Given the description of an element on the screen output the (x, y) to click on. 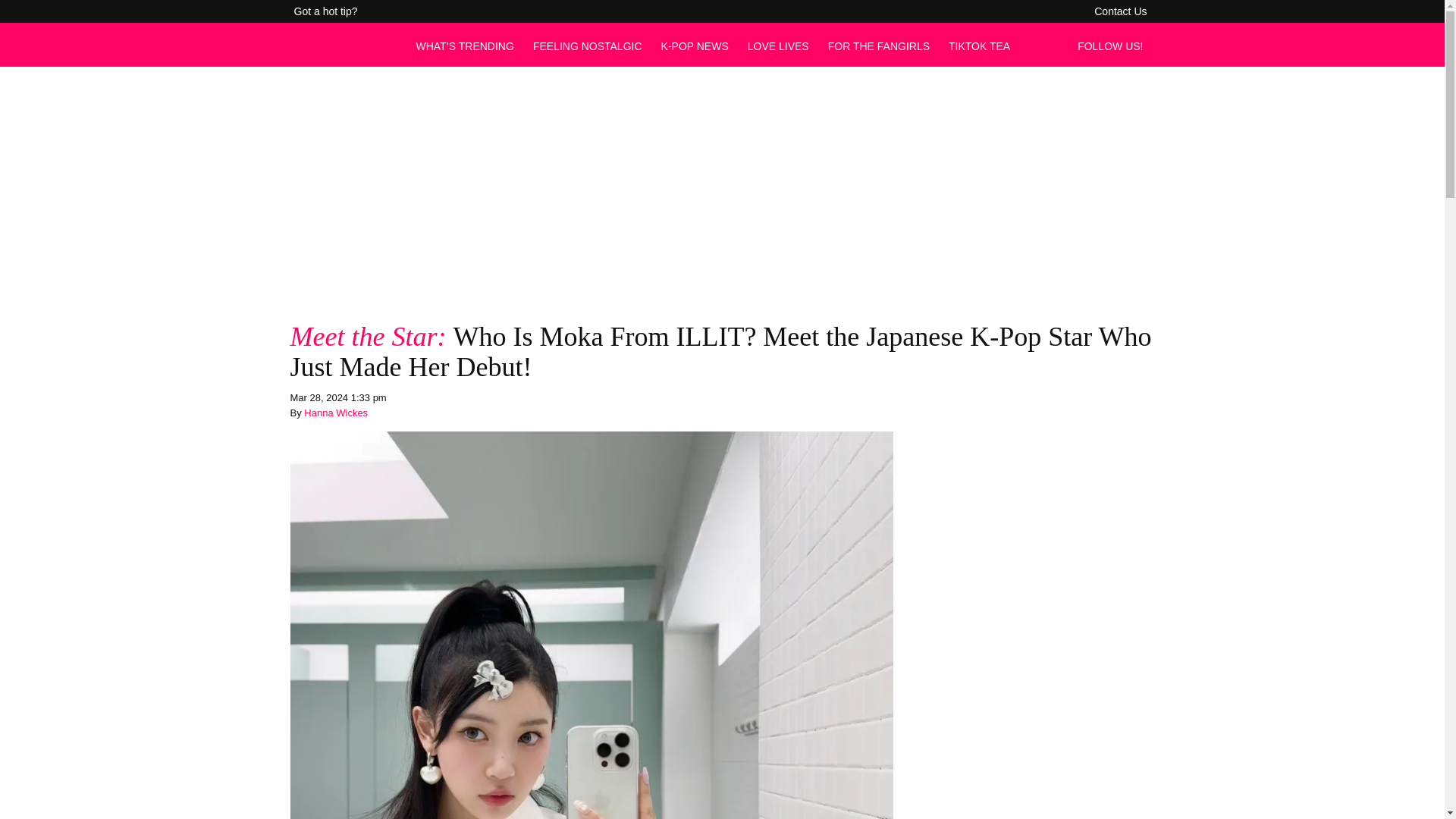
Hanna Wickes (336, 412)
FEELING NOSTALGIC (587, 46)
Contact Us (1120, 11)
Home (343, 52)
TIKTOK TEA (979, 46)
FOLLOW US! (1114, 45)
Posts by Hanna Wickes (336, 412)
K-POP NEWS (695, 46)
FOR THE FANGIRLS (879, 46)
Got a hot tip? (325, 11)
LOVE LIVES (778, 46)
